Given the description of an element on the screen output the (x, y) to click on. 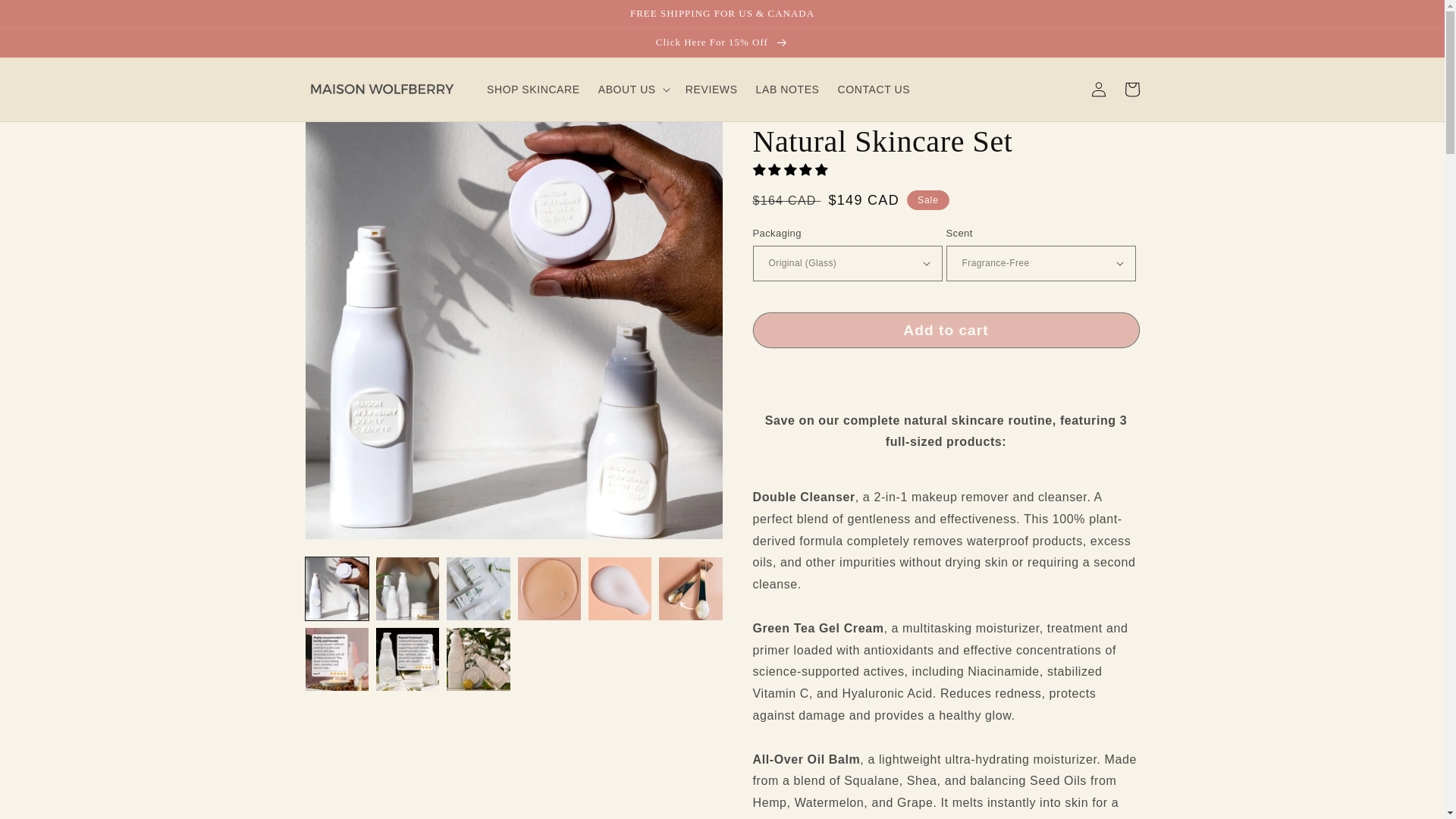
CONTACT US (874, 89)
REVIEWS (711, 89)
Skip to content (45, 17)
Skip to product information (350, 139)
SHOP SKINCARE (533, 89)
Cart (1131, 89)
LAB NOTES (787, 89)
Log in (1098, 89)
